Given the description of an element on the screen output the (x, y) to click on. 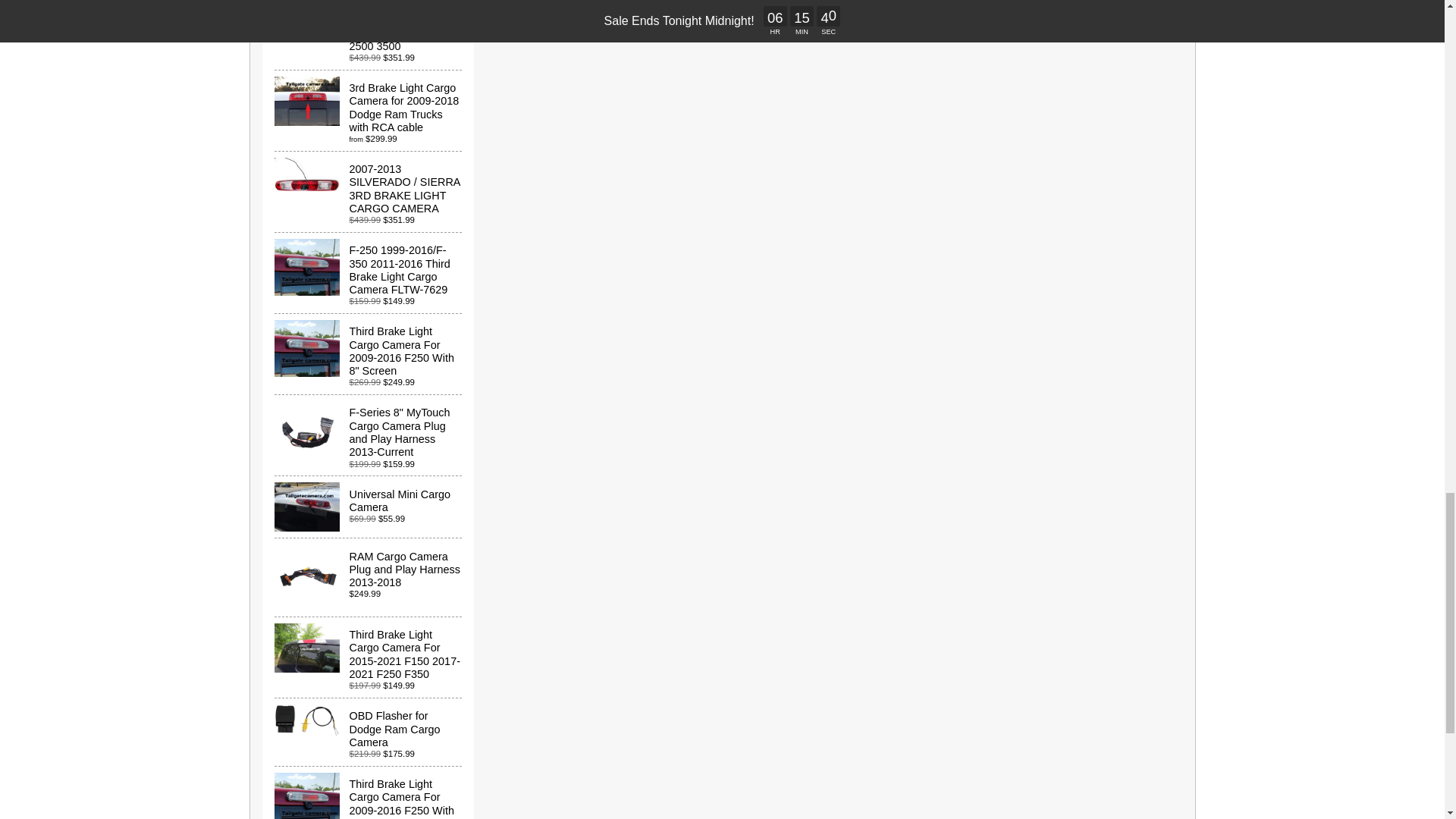
RAM Cargo Camera Plug and Play Harness 2013-2018 (369, 577)
Universal Mini Cargo Camera (369, 506)
OBD Flasher for Dodge Ram Cargo Camera (369, 731)
